Given the description of an element on the screen output the (x, y) to click on. 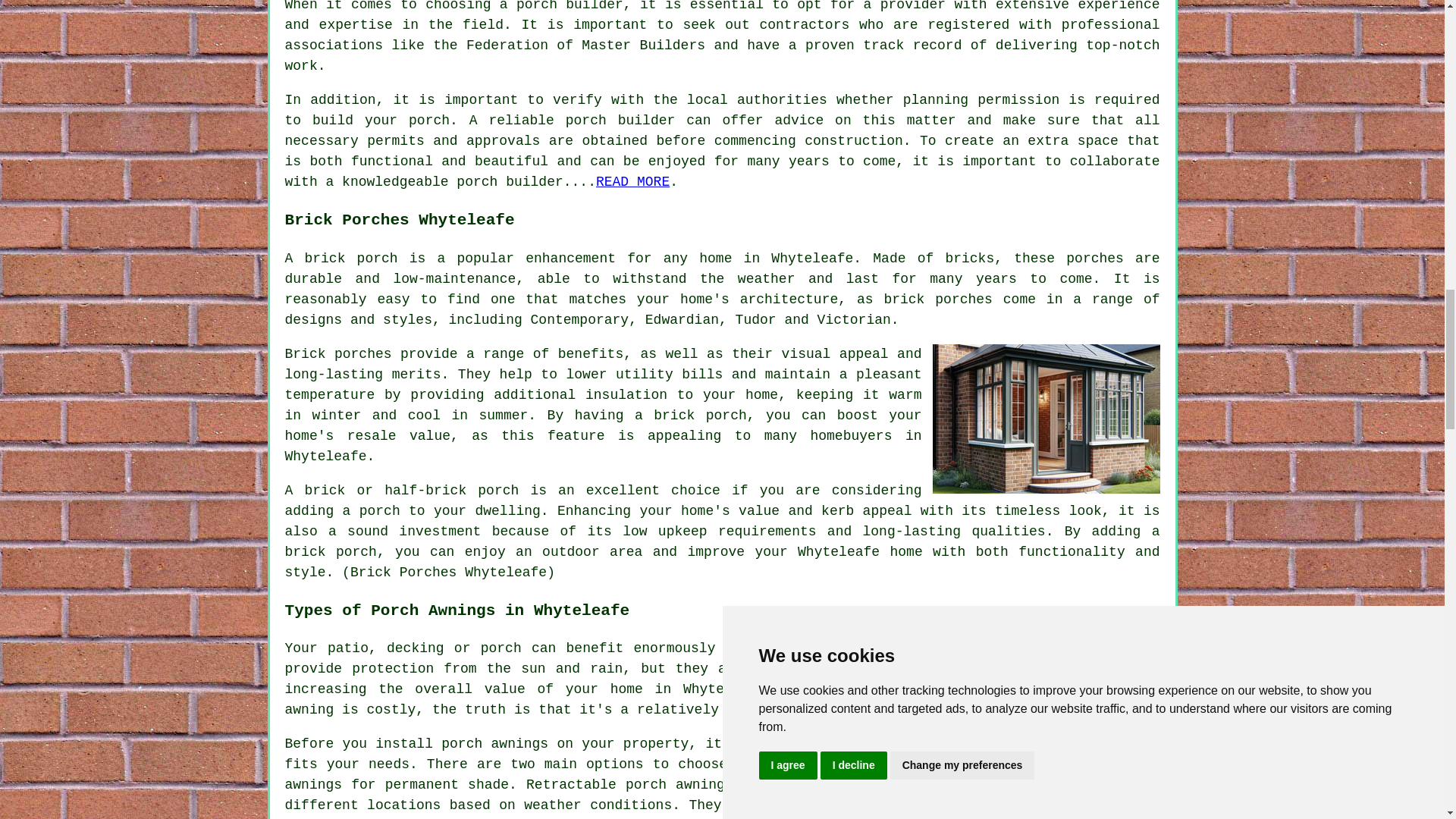
porches (1094, 257)
Brick Porches Whyteleafe (1046, 418)
brick porch (699, 415)
